Given the description of an element on the screen output the (x, y) to click on. 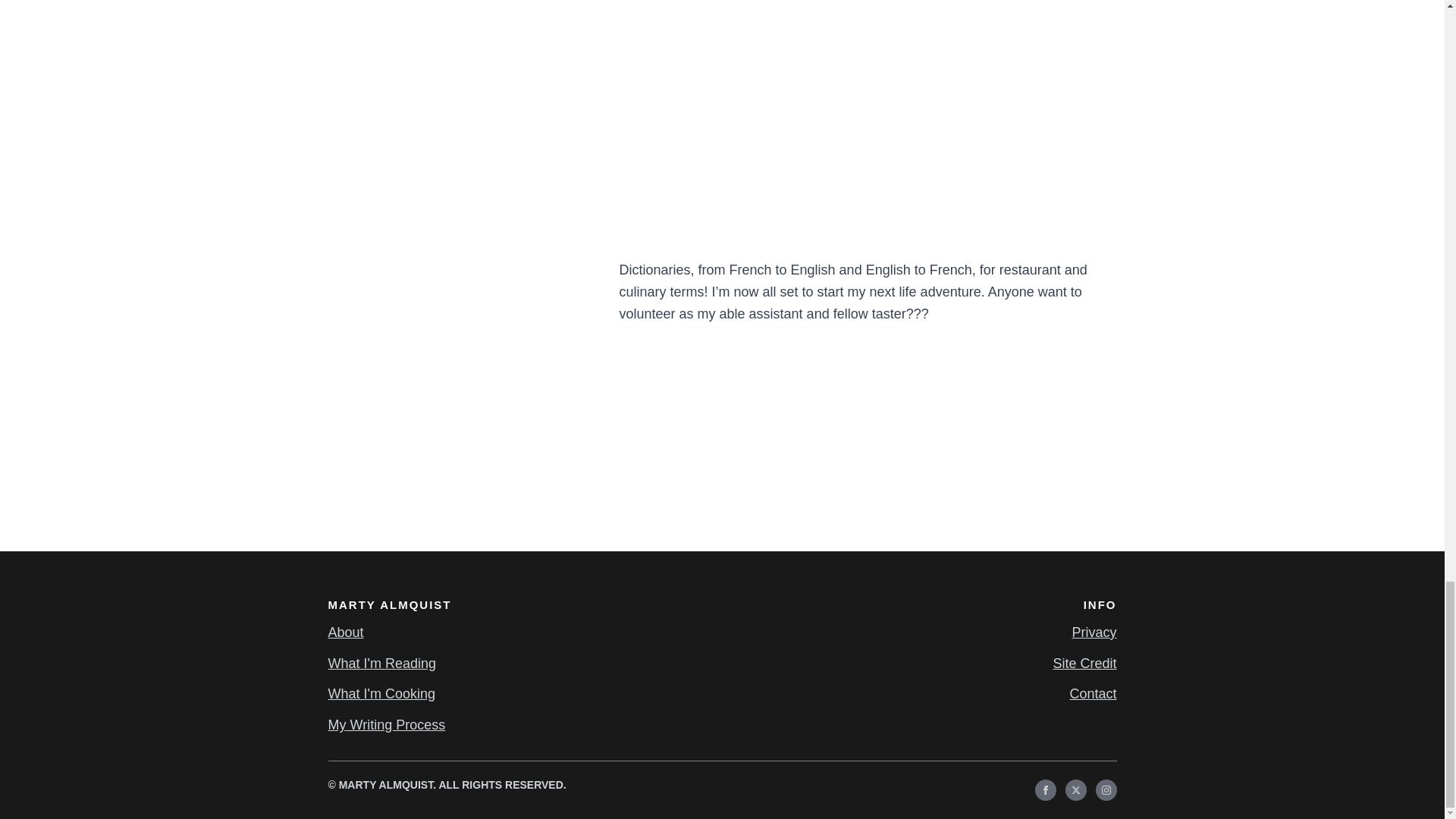
What I'm Reading (381, 663)
What I'm Cooking (381, 694)
My Writing Process (386, 725)
About (344, 632)
Contact (1092, 694)
Site Credit (1084, 663)
Privacy (1093, 632)
